Given the description of an element on the screen output the (x, y) to click on. 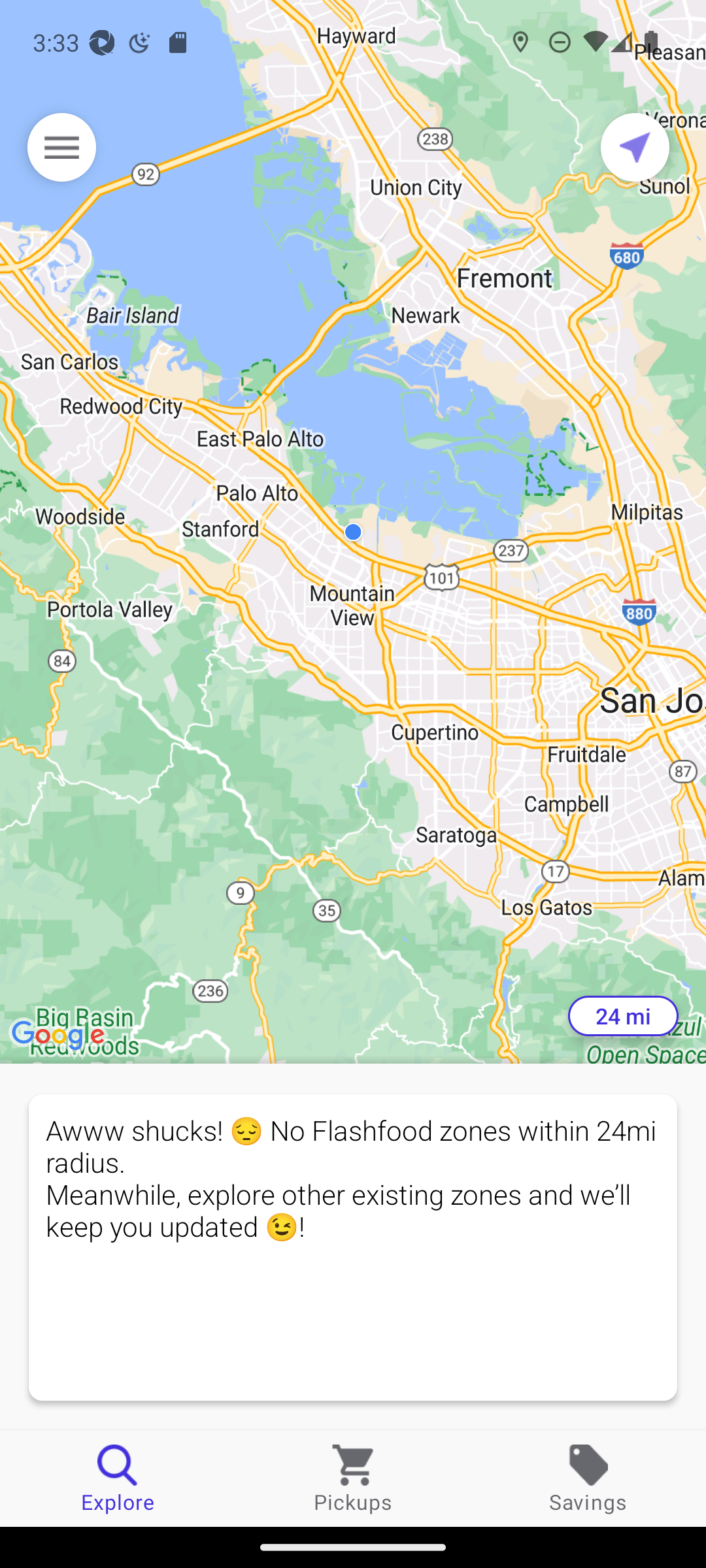
Menu (61, 146)
Current location (634, 146)
24 mi (623, 1015)
Pickups (352, 1478)
Savings (588, 1478)
